Given the description of an element on the screen output the (x, y) to click on. 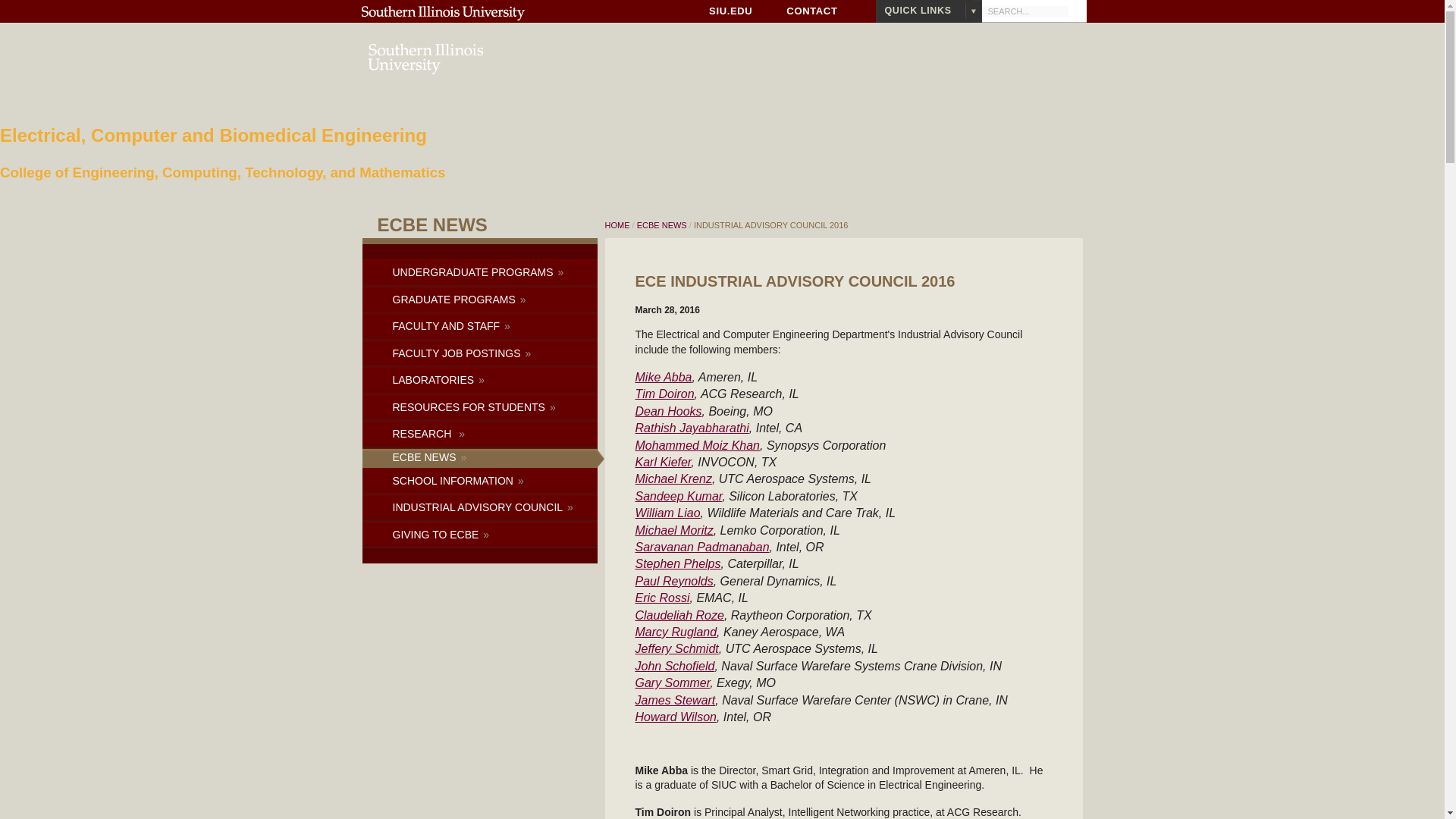
Dean Hooks (667, 410)
Stephen Phelps (677, 563)
ECBE NEWS (662, 225)
Claudeliah Roze (678, 615)
Marcy Rugland (675, 631)
Saravanan Padmanaban (702, 546)
HOME (617, 225)
Sandeep Kumar (678, 495)
SIU.EDU (730, 10)
Jeffery Schmidt (676, 648)
Search... (1024, 10)
Stephen Phelps (677, 563)
John Schofield (674, 666)
Karl Kiefer (662, 461)
Claudeliah Roze (678, 615)
